Given the description of an element on the screen output the (x, y) to click on. 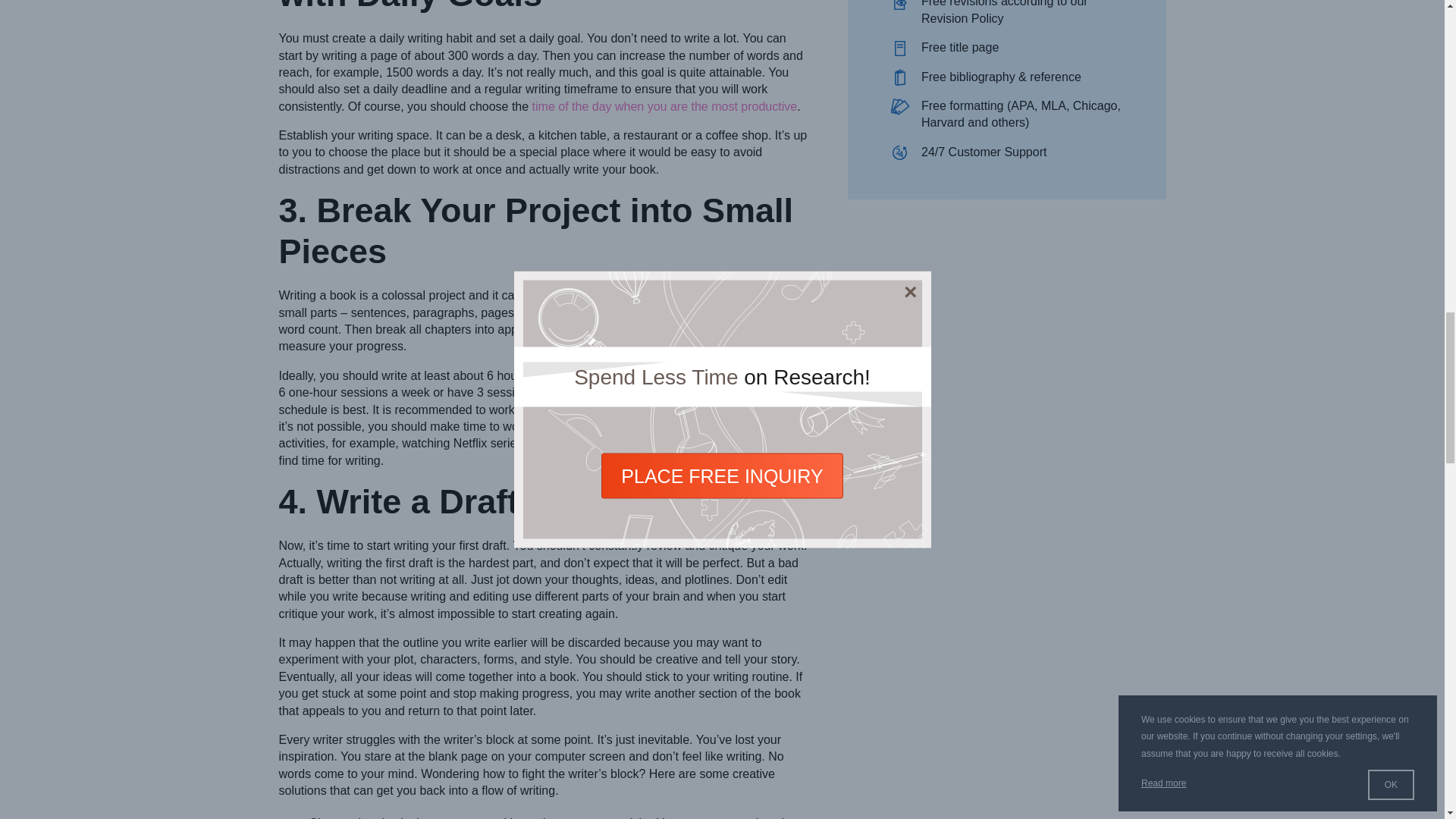
time of the day when you are the most productive (664, 106)
